Given the description of an element on the screen output the (x, y) to click on. 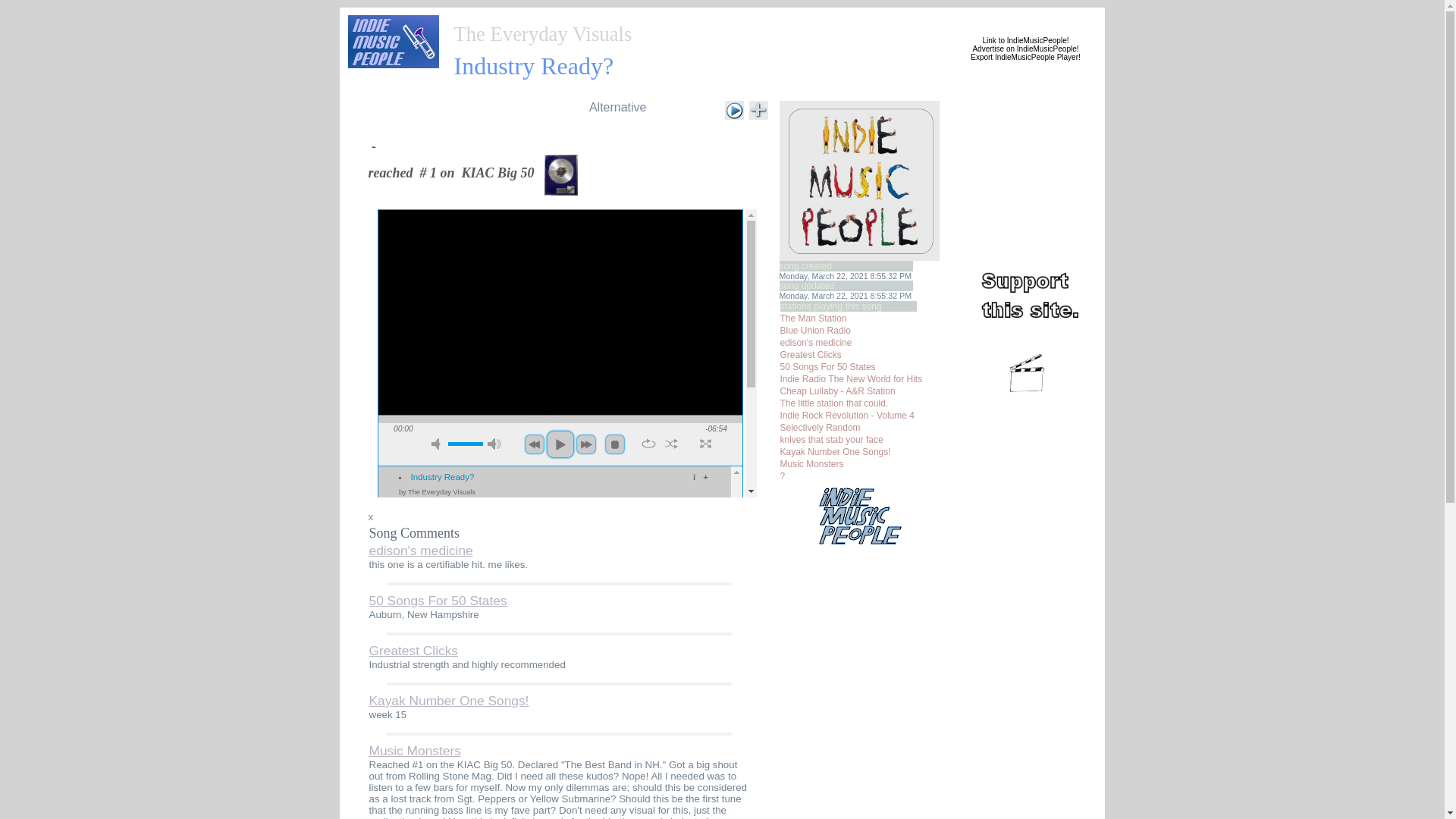
Indie Radio The New World for Hits (849, 378)
50 Songs For 50 States (826, 366)
The Man Station (811, 317)
edison's medicine (814, 342)
knives that stab your face (830, 439)
Greatest Clicks (809, 354)
Music Monsters (414, 750)
Link to IndieMusicPeople! (1025, 40)
The little station that could. (833, 403)
Advertise on IndieMusicPeople (1023, 49)
